Given the description of an element on the screen output the (x, y) to click on. 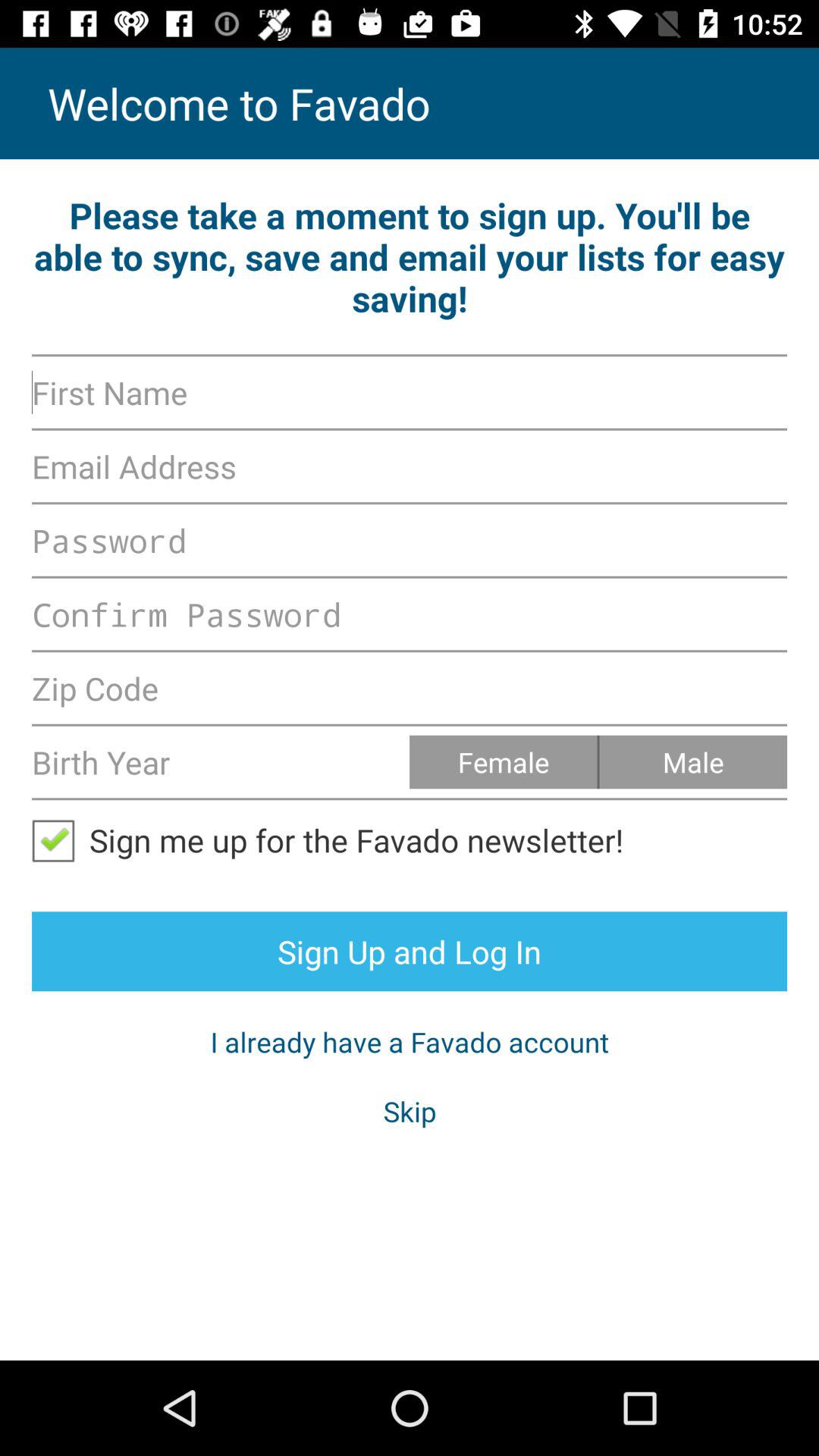
email address field (409, 466)
